Given the description of an element on the screen output the (x, y) to click on. 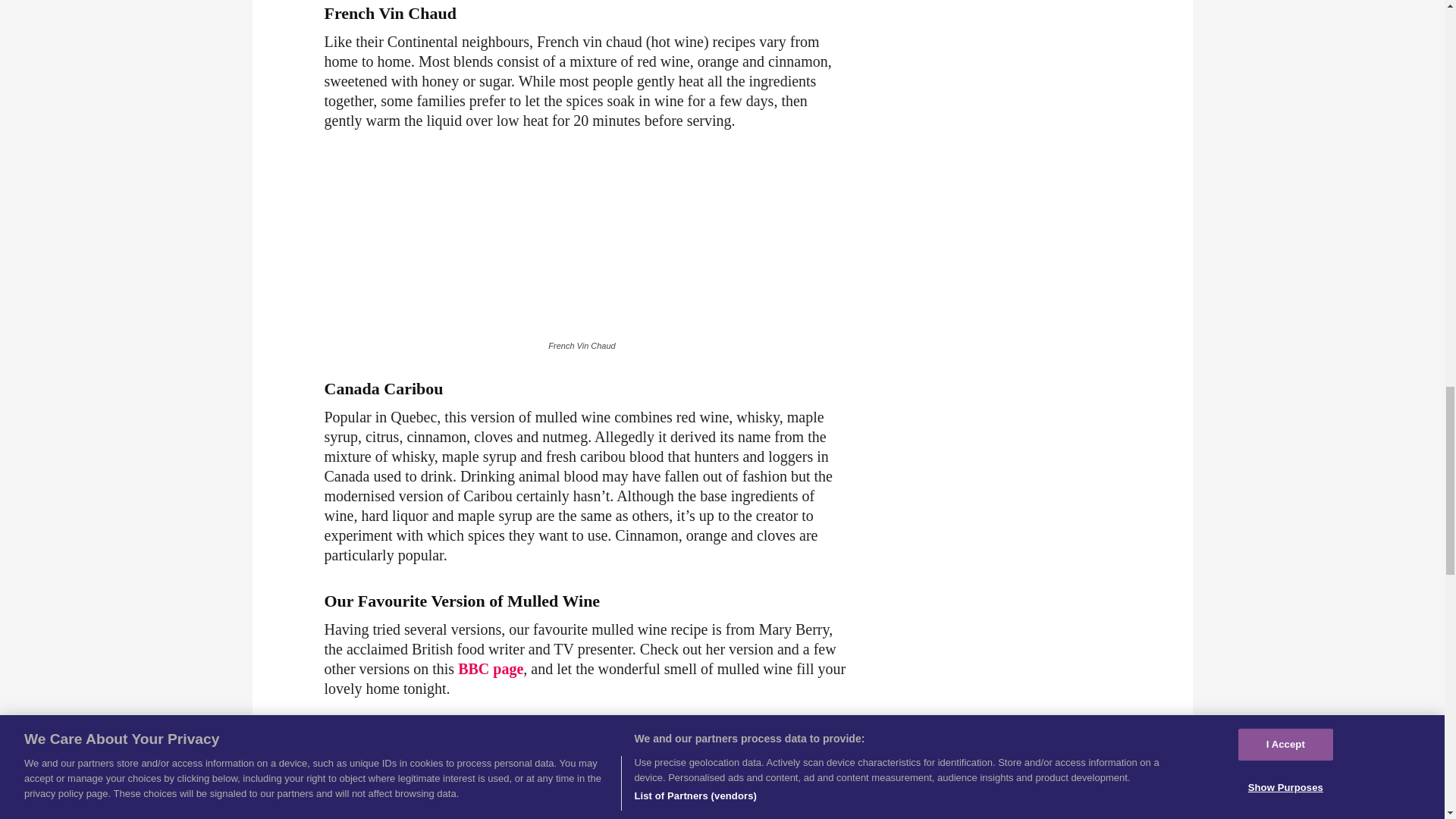
A guide to pilsner (411, 786)
BBC page (490, 668)
Weird world foods (415, 806)
5 festive drinks to raise your spirits (469, 767)
